Given the description of an element on the screen output the (x, y) to click on. 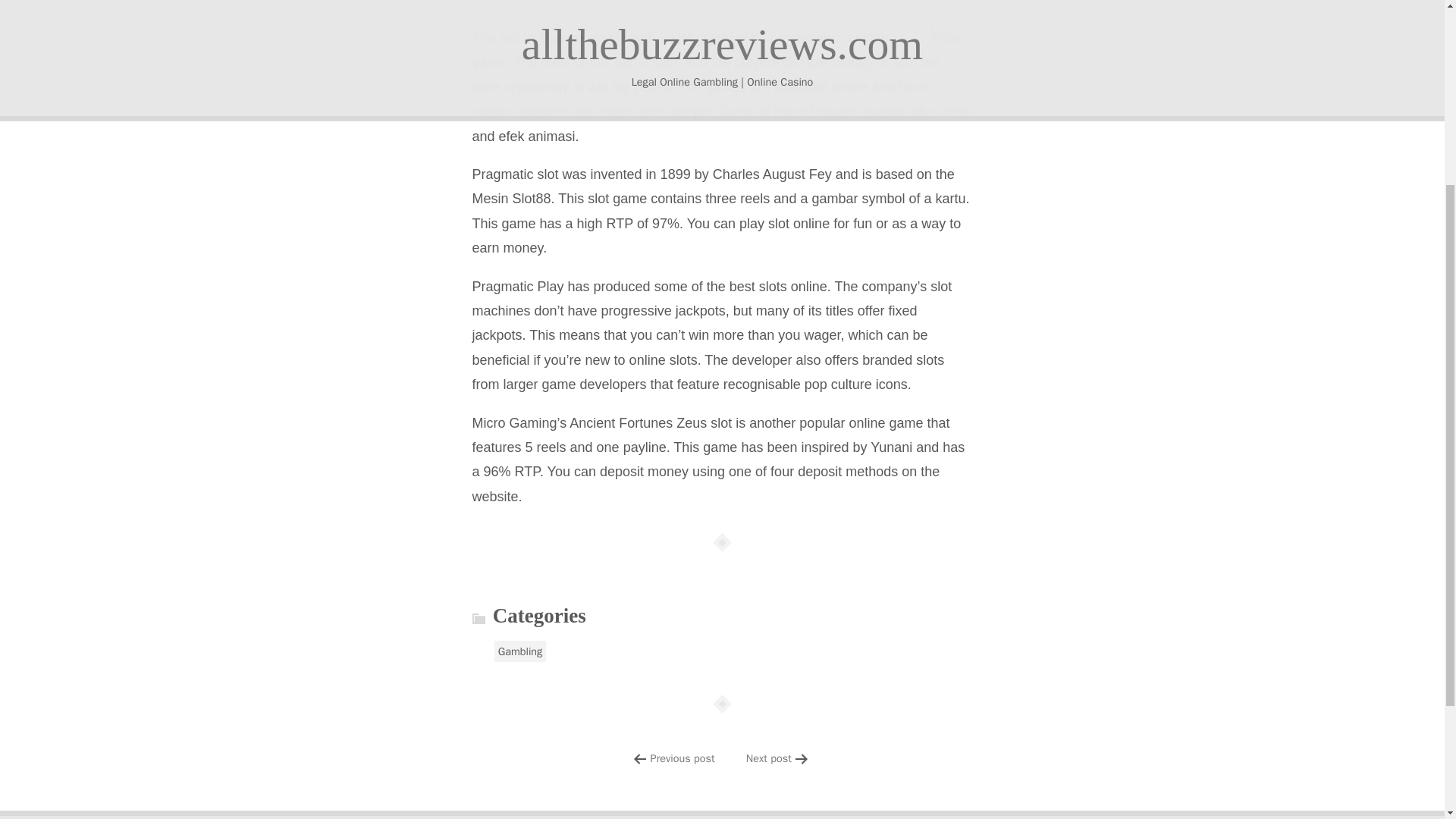
Previous post (682, 757)
Gambling (521, 650)
Next post (768, 757)
